Given the description of an element on the screen output the (x, y) to click on. 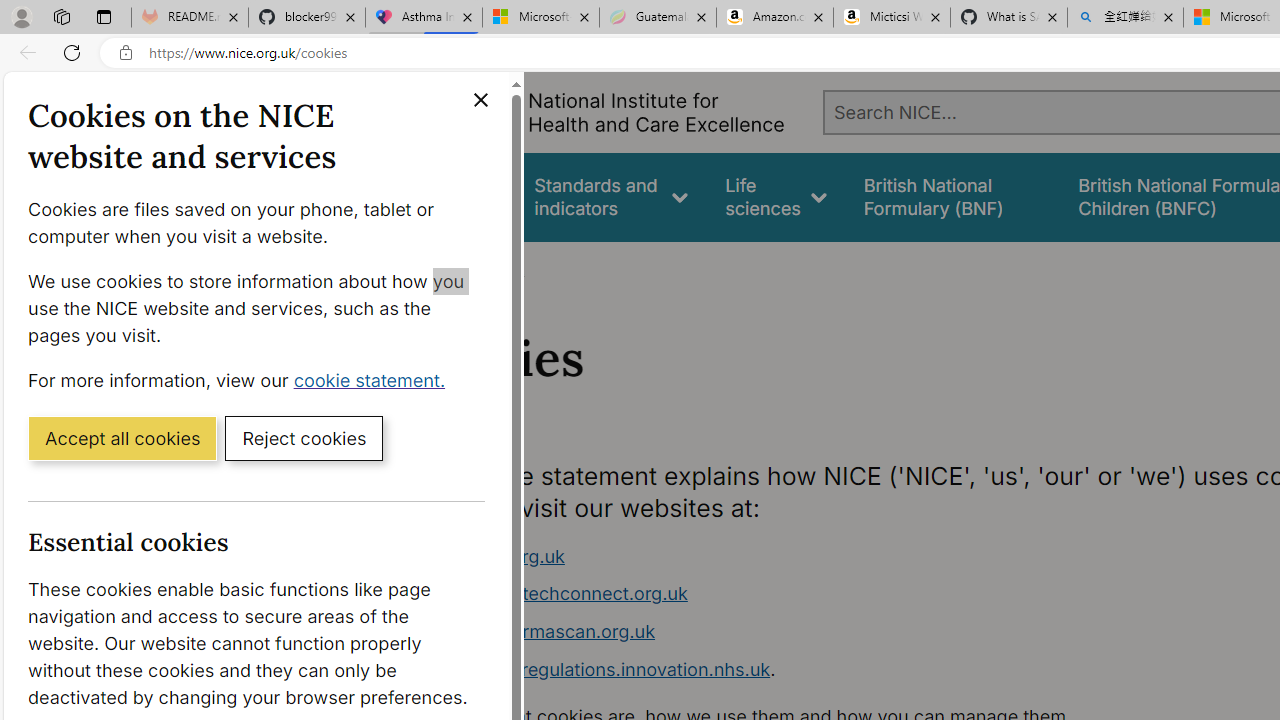
www.nice.org.uk (492, 556)
Accept all cookies (122, 437)
www.digitalregulations.innovation.nhs.uk (595, 668)
Reject cookies (304, 437)
www.healthtechconnect.org.uk (796, 594)
www.digitalregulations.innovation.nhs.uk. (796, 669)
